Given the description of an element on the screen output the (x, y) to click on. 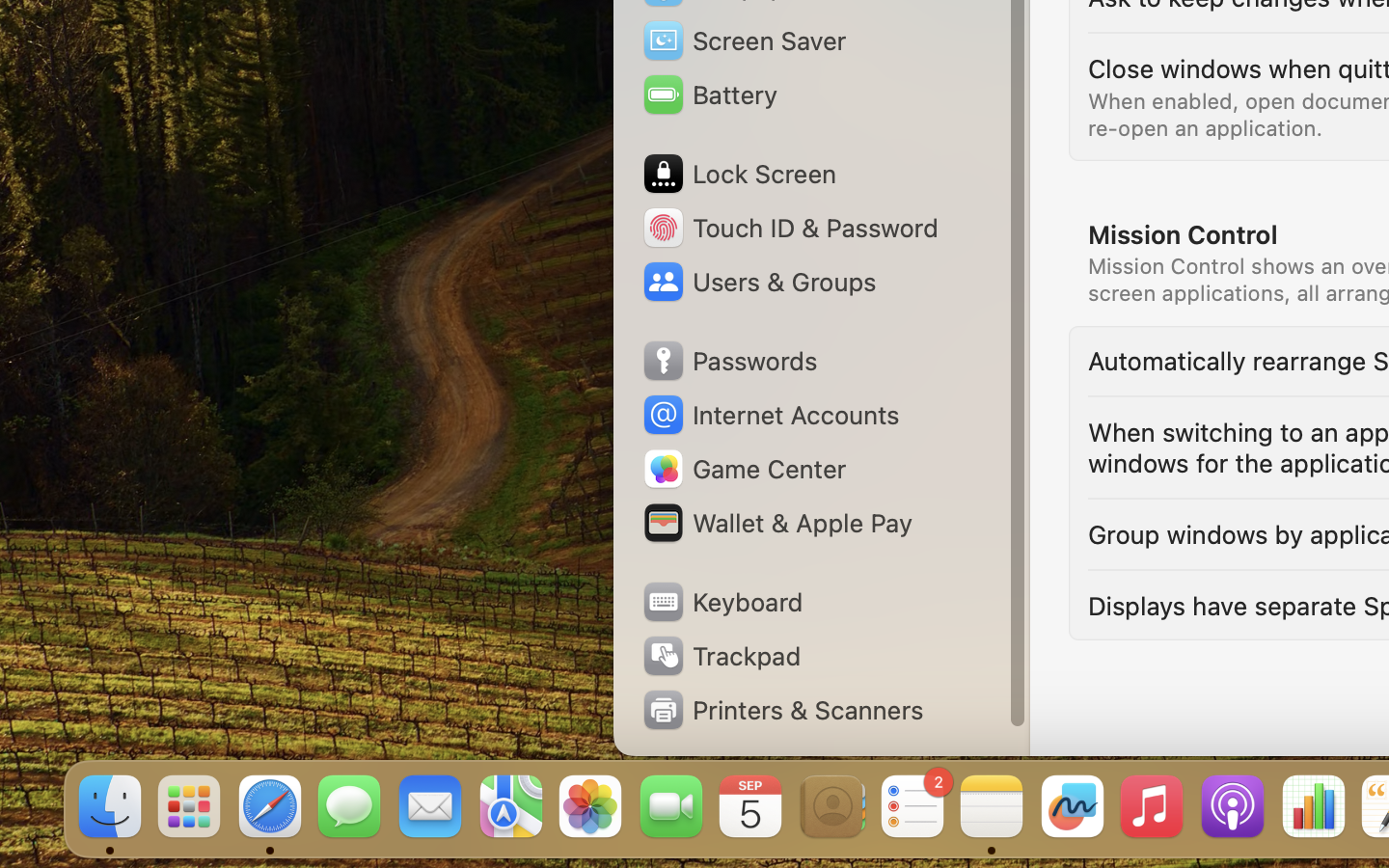
Game Center Element type: AXStaticText (743, 468)
Internet Accounts Element type: AXStaticText (769, 414)
